Given the description of an element on the screen output the (x, y) to click on. 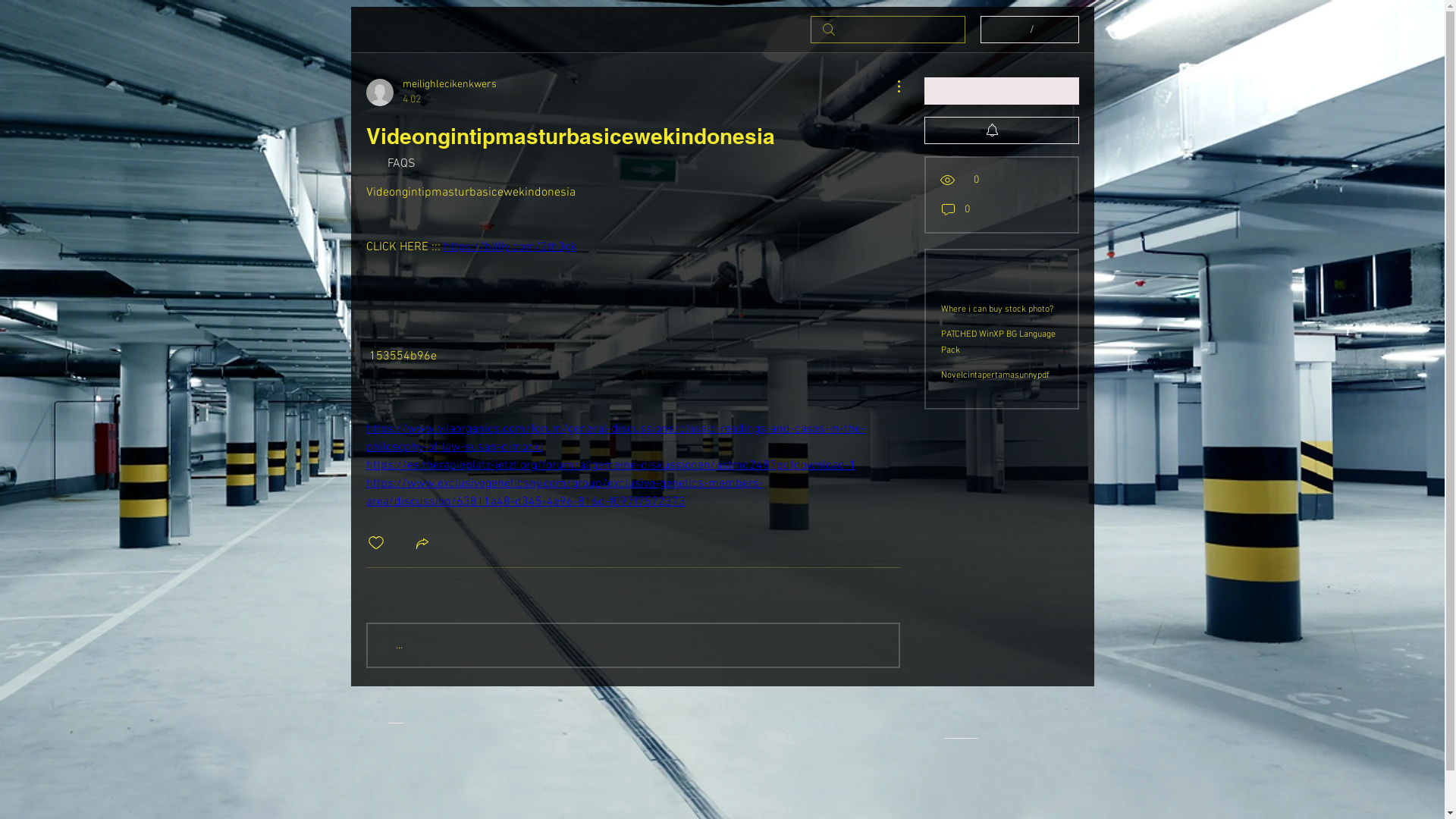
Where i can buy stock photo? Element type: text (996, 309)
Novelcintapertamasunnypdf Element type: text (994, 375)
PATCHED WinXP BG Language Pack Element type: text (997, 342)
https://bltlly.com/2th3gk Element type: text (509, 246)
